Given the description of an element on the screen output the (x, y) to click on. 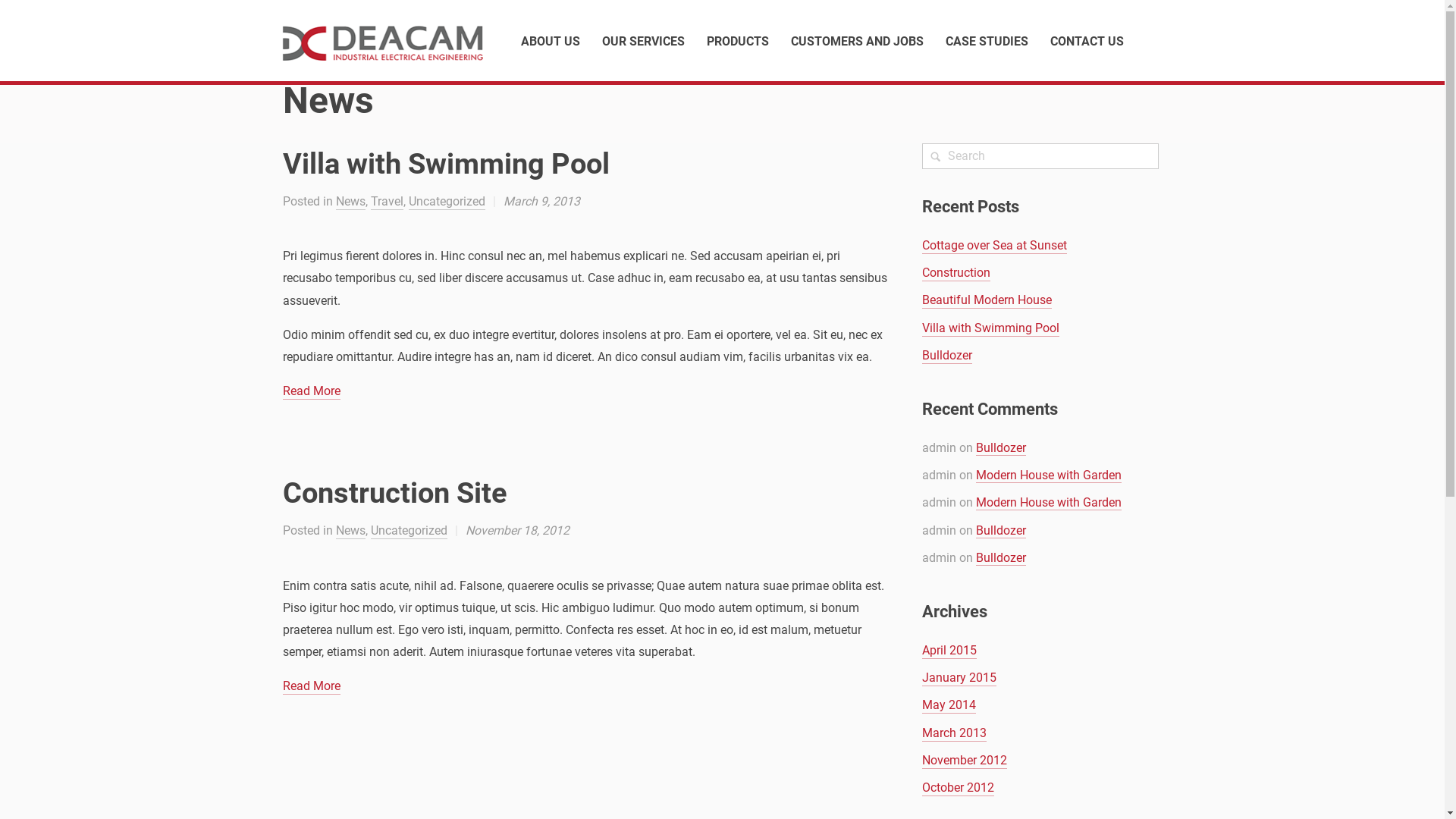
OUR SERVICES Element type: text (643, 40)
October 2012 Element type: text (958, 788)
Bulldozer Element type: text (1000, 557)
CUSTOMERS AND JOBS Element type: text (856, 40)
April 2015 Element type: text (949, 650)
Modern House with Garden Element type: text (1048, 502)
Uncategorized Element type: text (445, 202)
News Element type: text (349, 202)
CASE STUDIES Element type: text (985, 40)
Read More Element type: text (310, 391)
ABOUT US Element type: text (549, 40)
Uncategorized Element type: text (408, 531)
November 2012 Element type: text (964, 760)
Villa with Swimming Pool Element type: text (990, 327)
May 2014 Element type: text (948, 705)
Villa with Swimming Pool Element type: text (445, 163)
Construction Site Element type: text (394, 492)
Construction Element type: text (956, 273)
Bulldozer Element type: text (947, 356)
Bulldozer Element type: text (1000, 530)
Cottage over Sea at Sunset Element type: text (994, 246)
Beautiful Modern House Element type: text (986, 300)
CONTACT US Element type: text (1086, 40)
PRODUCTS Element type: text (737, 40)
Travel Element type: text (386, 202)
Bulldozer Element type: text (1000, 447)
Search Element type: text (24, 13)
March 2013 Element type: text (954, 733)
Modern House with Garden Element type: text (1048, 475)
News Element type: text (349, 531)
January 2015 Element type: text (959, 678)
Read More Element type: text (310, 686)
